Given the description of an element on the screen output the (x, y) to click on. 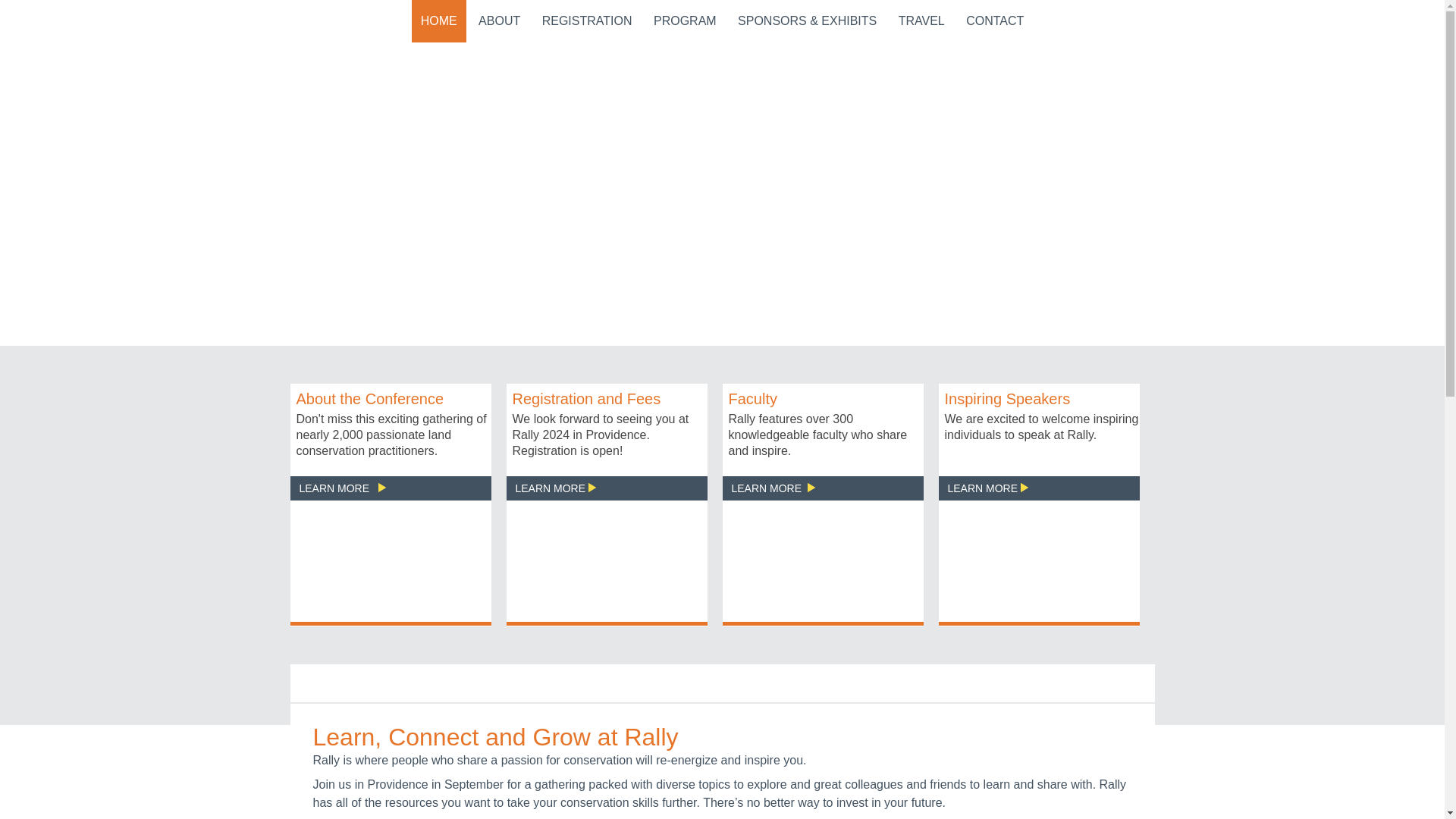
LEARN MORE (987, 488)
LEARN MORE  (555, 488)
HOME (438, 21)
REGISTRATION (587, 21)
ABOUT (498, 21)
LEARN MORE  (771, 488)
PROGRAM (685, 21)
CONTACT (994, 21)
TRAVEL (921, 21)
LEARN MORE   (341, 488)
